Given the description of an element on the screen output the (x, y) to click on. 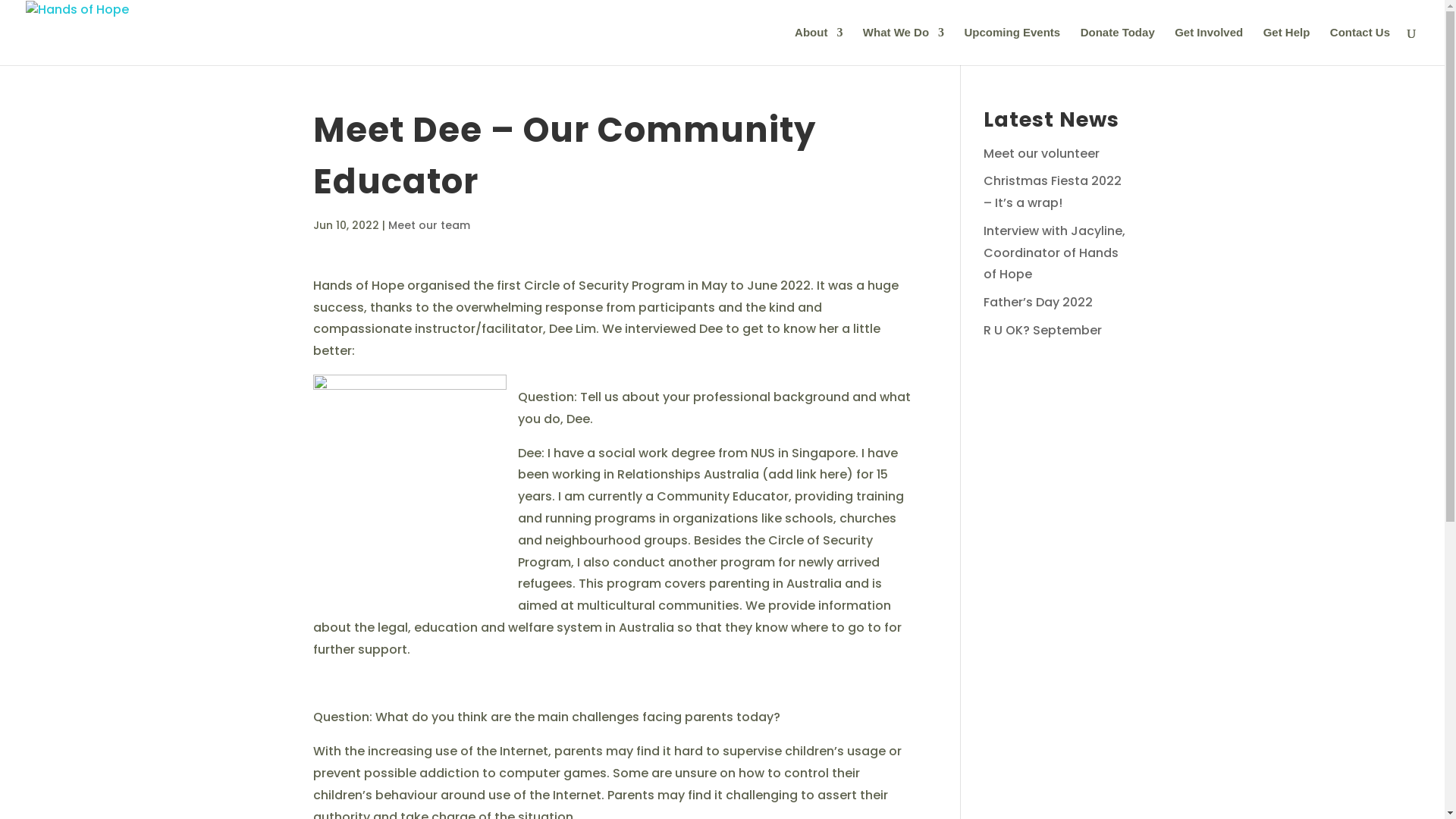
Contact Us Element type: text (1360, 46)
Get Involved Element type: text (1208, 46)
Donate Today Element type: text (1117, 46)
Interview with Jacyline, Coordinator of Hands of Hope Element type: text (1054, 252)
Meet our team Element type: text (429, 224)
R U OK? September Element type: text (1042, 329)
Get Help Element type: text (1286, 46)
Meet our volunteer Element type: text (1041, 152)
Upcoming Events Element type: text (1012, 46)
About Element type: text (818, 46)
What We Do Element type: text (903, 46)
